Given the description of an element on the screen output the (x, y) to click on. 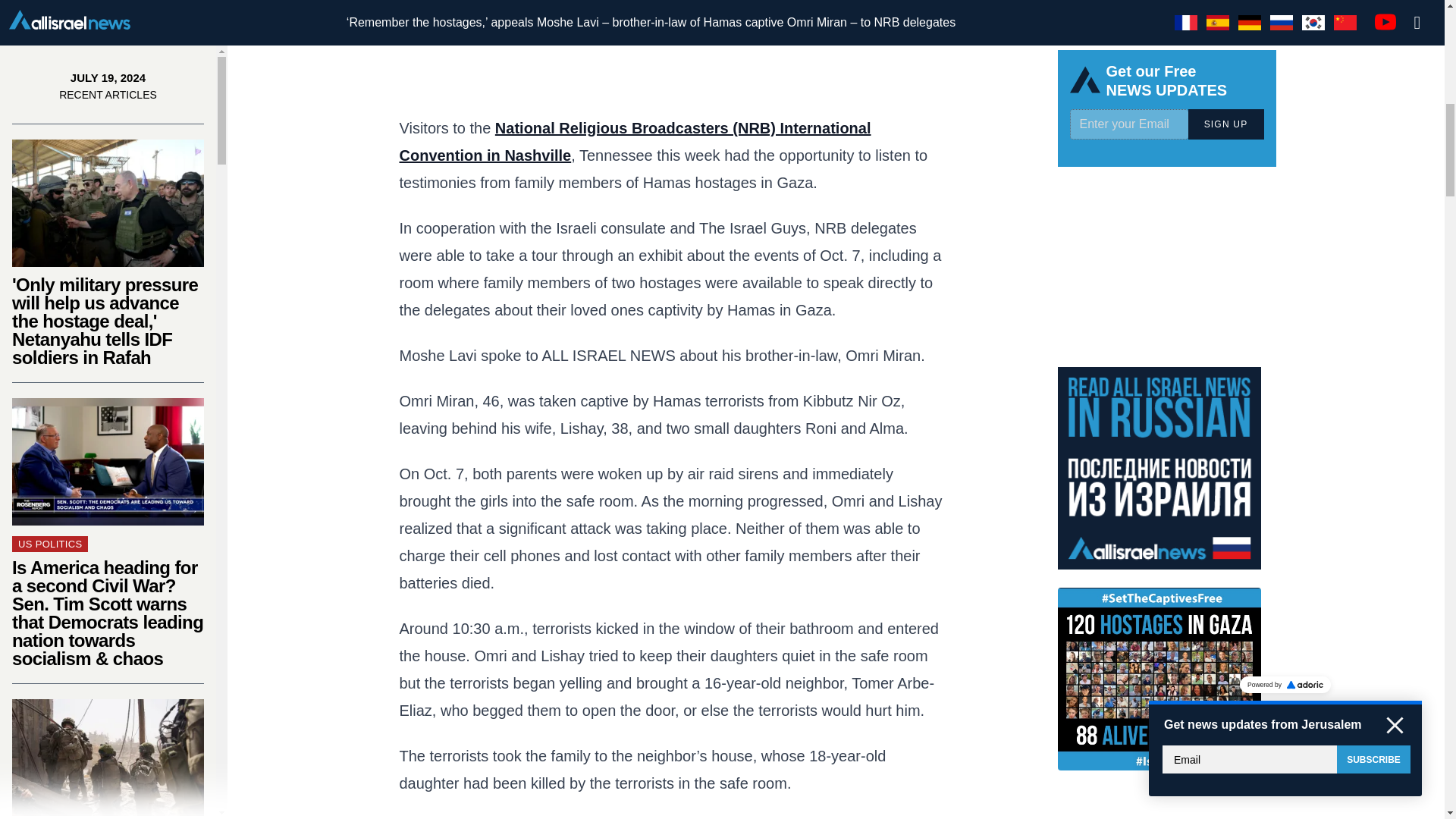
Part of a poster distributed by Michail Chkhikvishvili (107, 777)
